Given the description of an element on the screen output the (x, y) to click on. 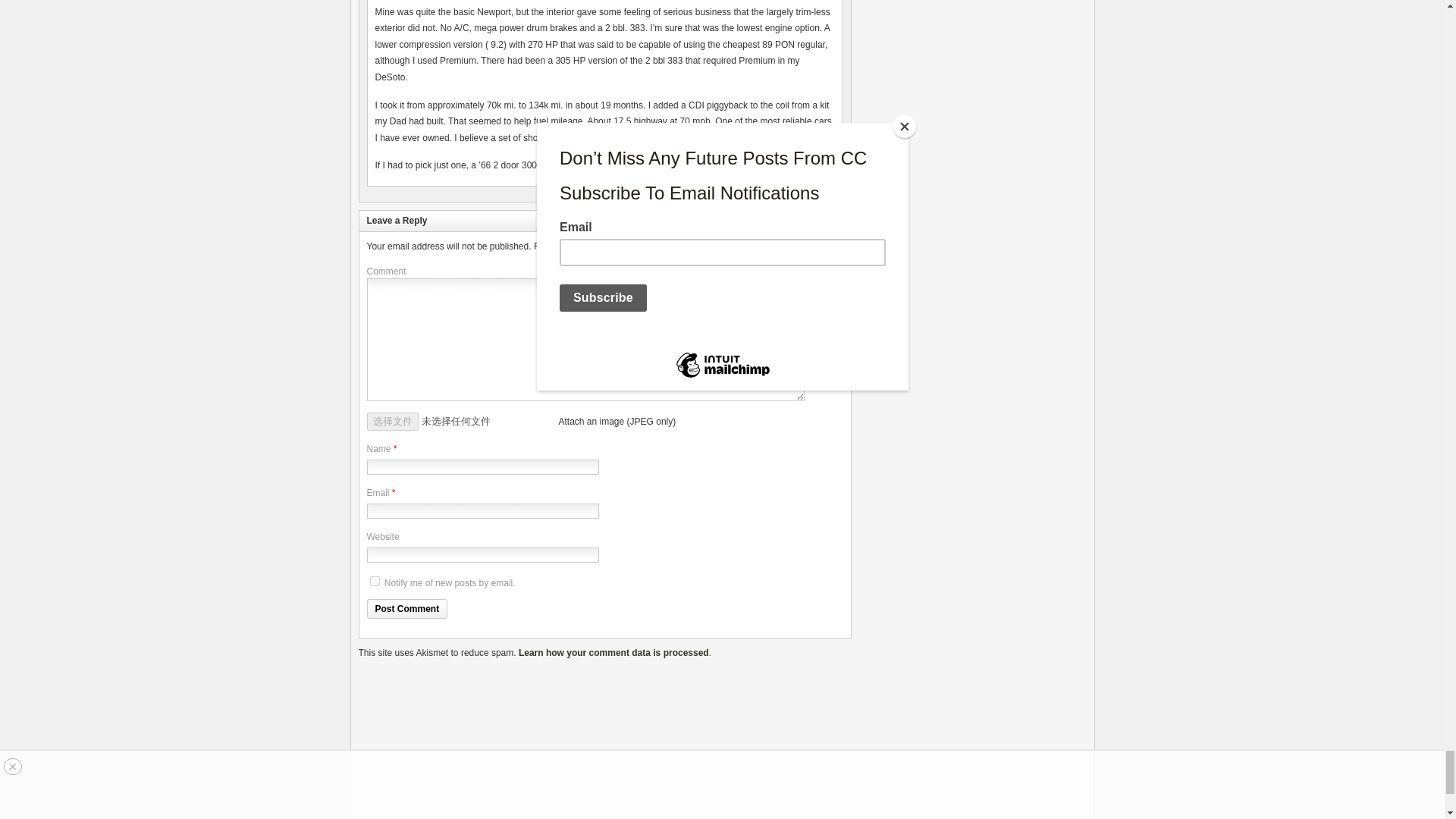
Post Comment (407, 608)
subscribe (374, 581)
